Given the description of an element on the screen output the (x, y) to click on. 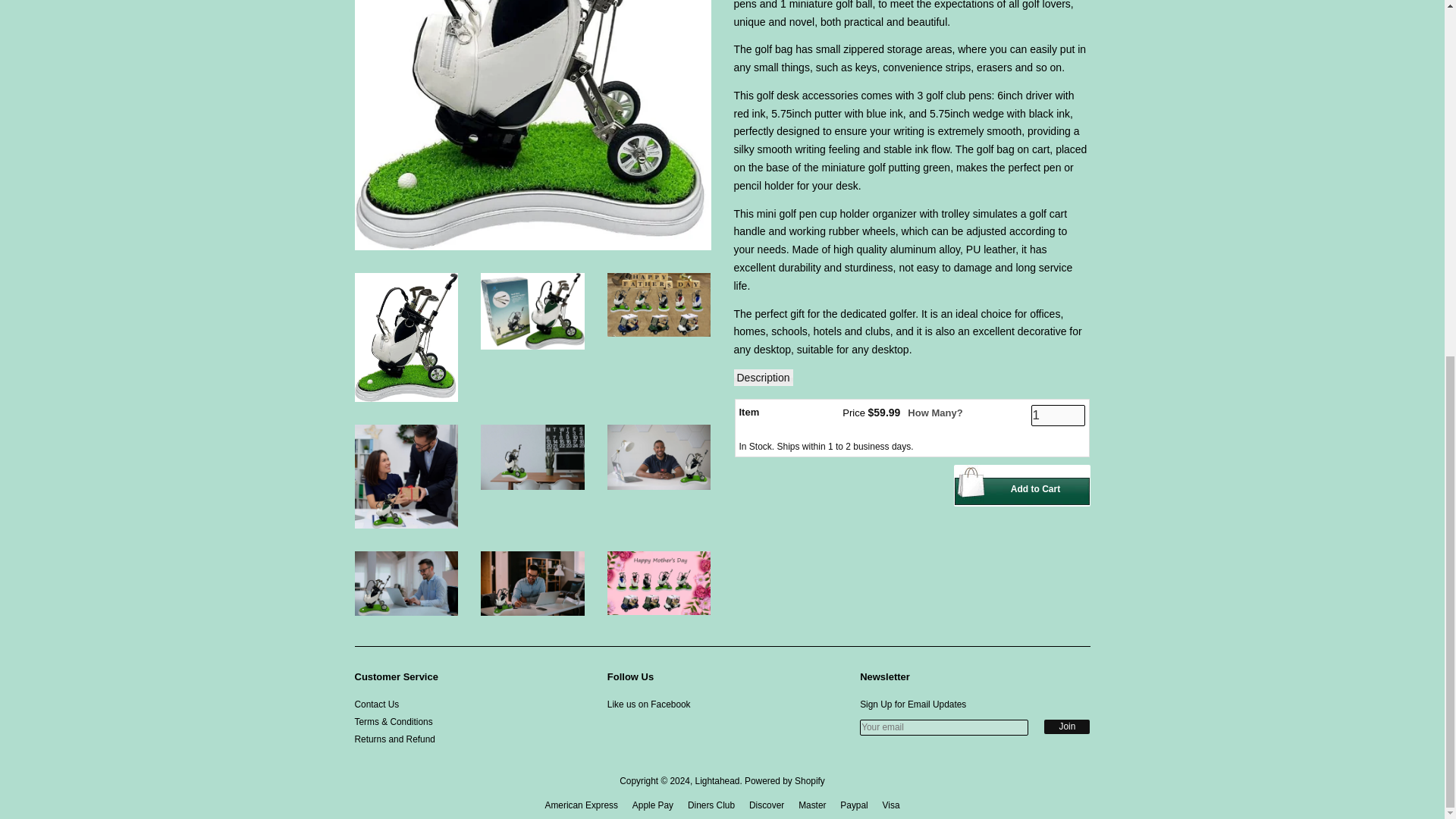
Like us on Facebook (648, 704)
Join (1066, 726)
Description (763, 377)
Join (1066, 726)
Contact Us (376, 704)
1 (1057, 414)
Lightahead on Facebook (648, 704)
Returns and Refund (395, 738)
Add to Cart (1021, 485)
